Given the description of an element on the screen output the (x, y) to click on. 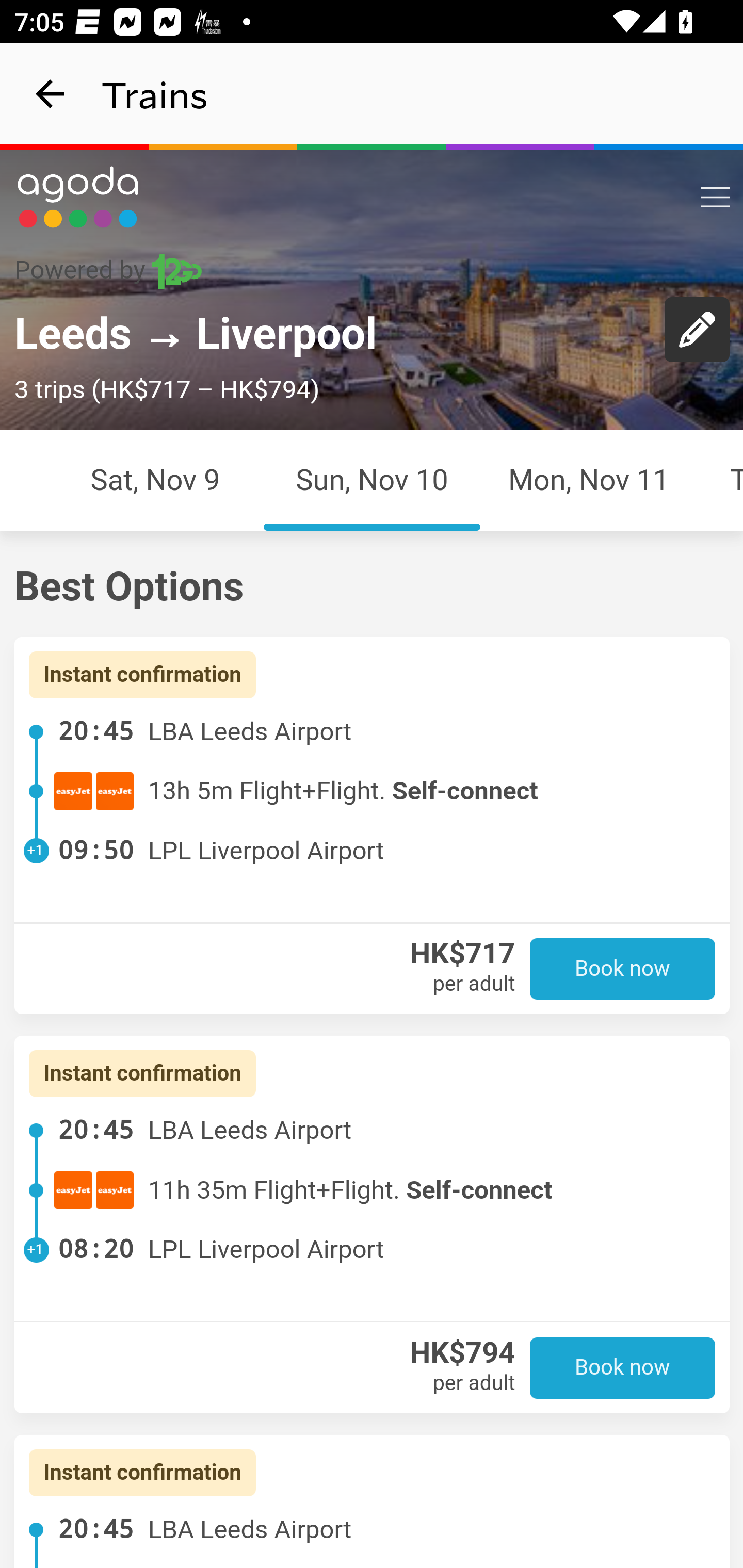
navigation_button (50, 93)
Link to main page 5418 (78, 197)
Sat, Nov 9 (154, 478)
Sun, Nov 10 (371, 478)
Mon, Nov 11 (589, 478)
Book now (622, 968)
Book now (622, 1366)
